Given the description of an element on the screen output the (x, y) to click on. 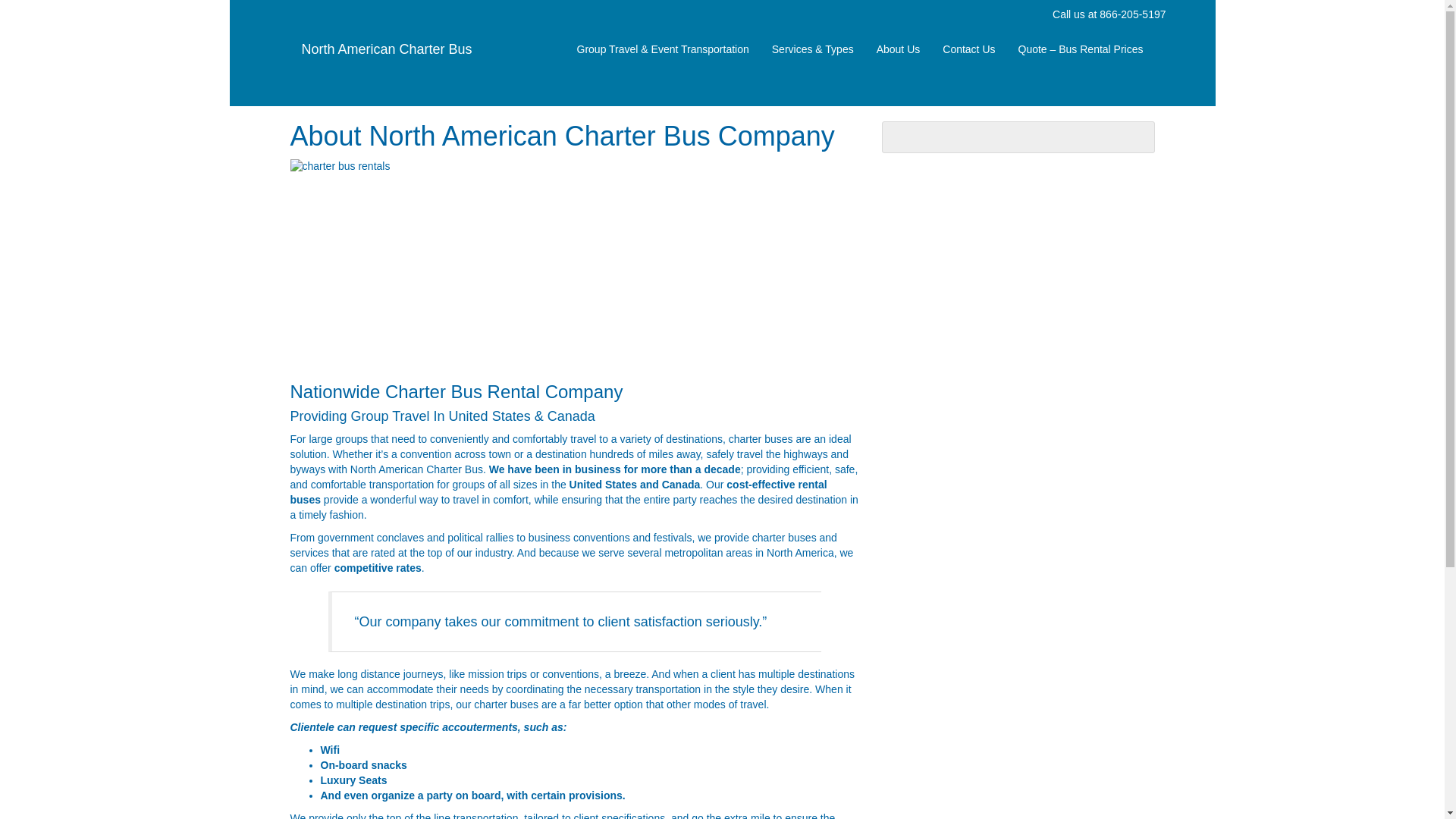
Contact Us (968, 48)
About Us (897, 48)
North American Charter Bus (386, 48)
